Given the description of an element on the screen output the (x, y) to click on. 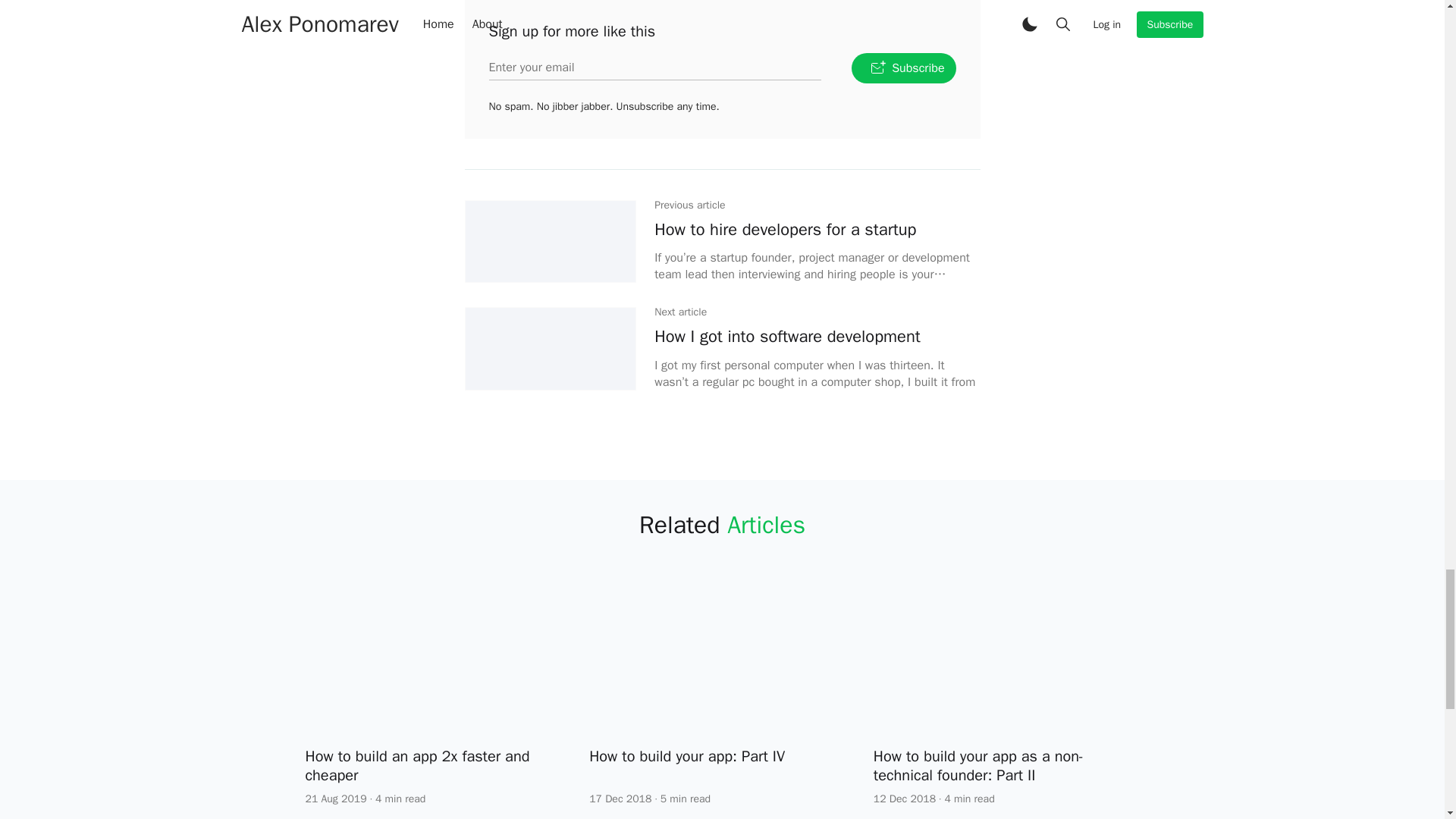
4 min read (968, 798)
5 min read (685, 798)
Updated 12 Dec 2018 (904, 798)
Updated 17 Dec 2018 (619, 798)
4 min read (400, 798)
Updated 20 Nov 2019 (335, 798)
